Given the description of an element on the screen output the (x, y) to click on. 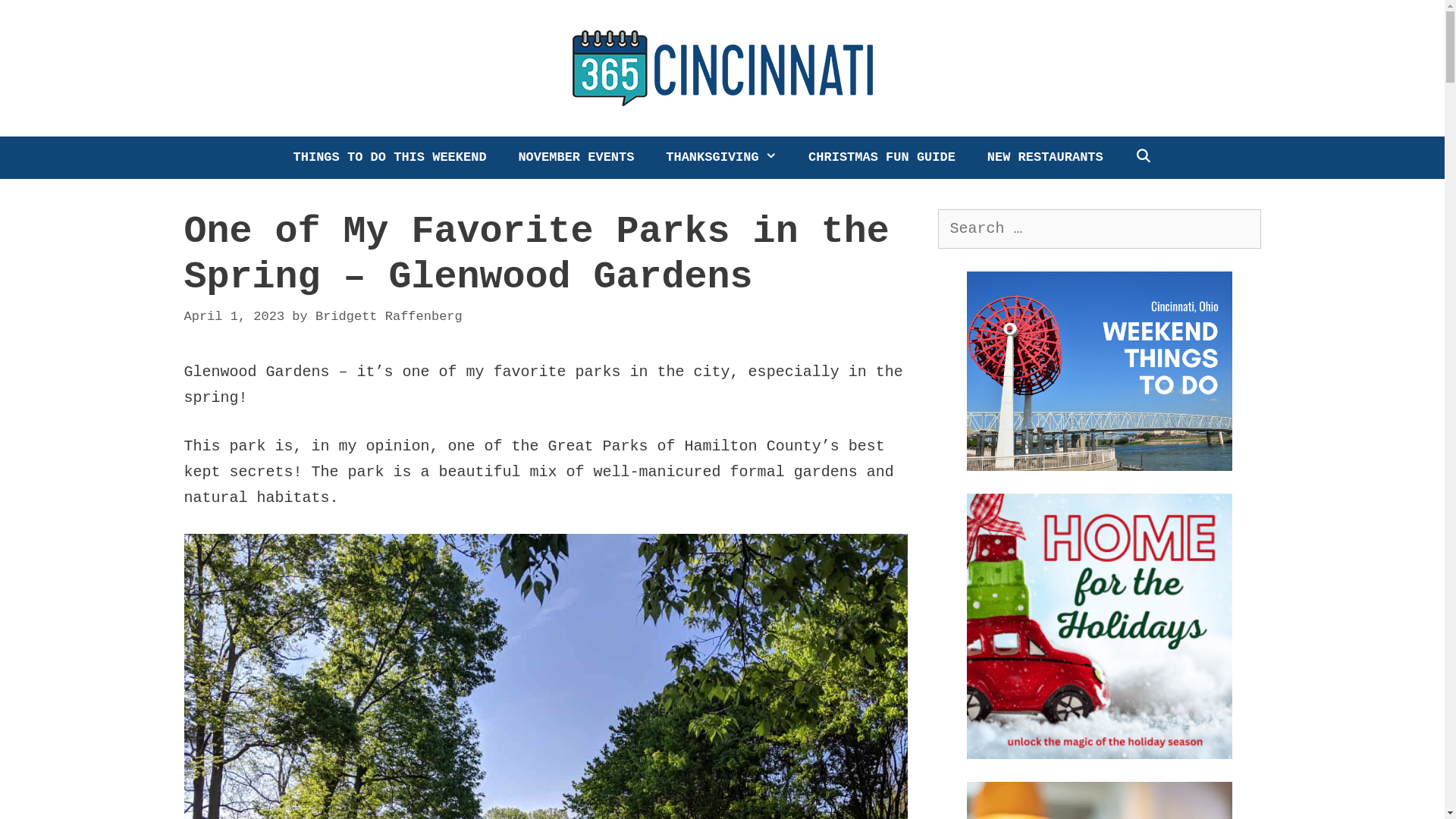
THINGS TO DO THIS WEEKEND Element type: text (389, 157)
Search for: Element type: hover (1098, 228)
Search Element type: text (43, 19)
THANKSGIVING Element type: text (721, 157)
NEW RESTAURANTS Element type: text (1045, 157)
Bridgett Raffenberg Element type: text (388, 316)
NOVEMBER EVENTS Element type: text (575, 157)
CHRISTMAS FUN GUIDE Element type: text (881, 157)
